Given the description of an element on the screen output the (x, y) to click on. 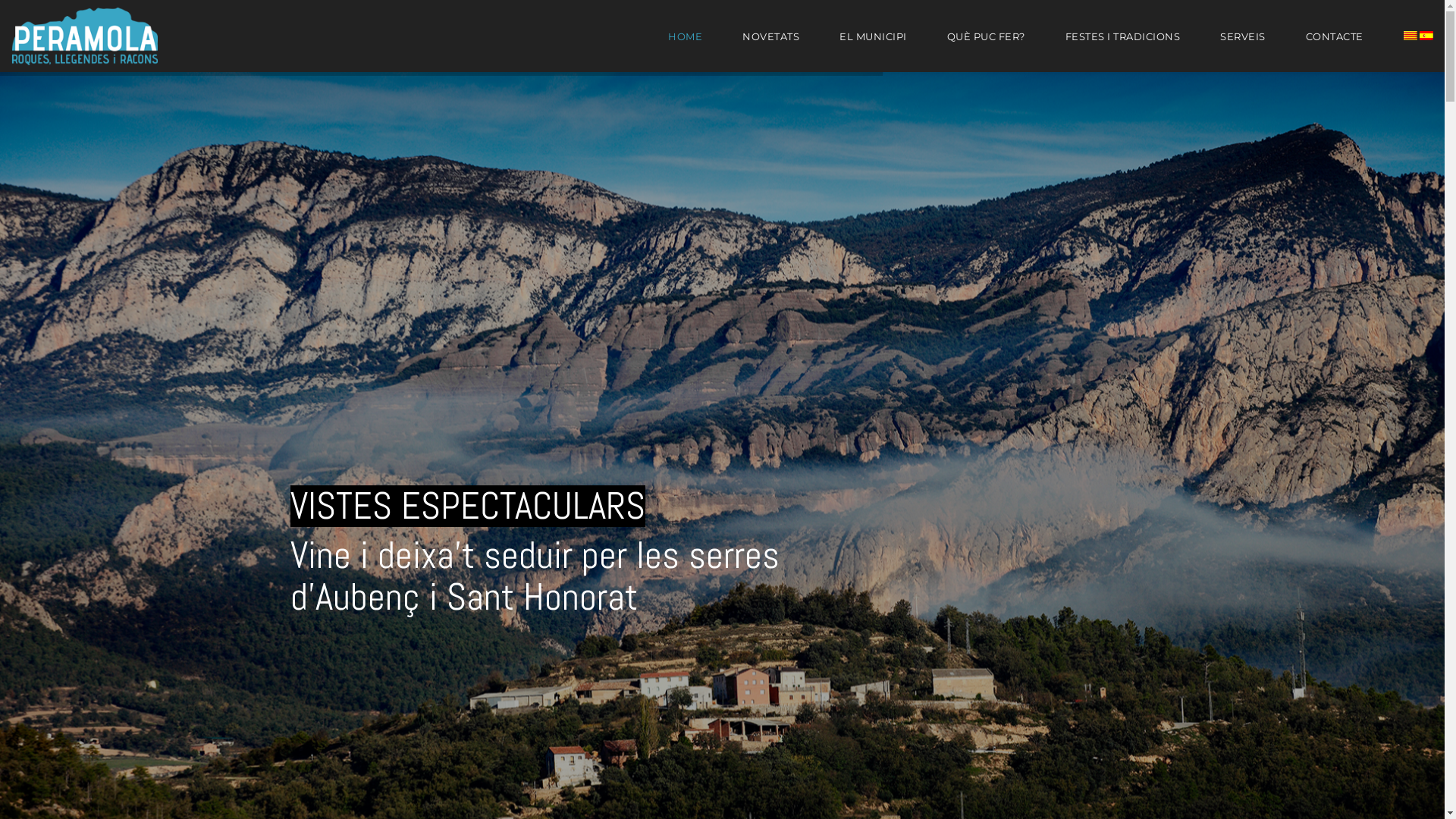
HOME Element type: text (685, 48)
SERVEIS Element type: text (1242, 48)
  Element type: text (1409, 48)
NOVETATS Element type: text (770, 48)
www.turismeperamola.cat Element type: text (1108, 768)
EL MUNICIPI Element type: text (872, 48)
Aviso legal Element type: text (1142, 784)
CONTACTE Element type: text (1333, 48)
FESTES I TRADICIONS Element type: text (1122, 48)
